Given the description of an element on the screen output the (x, y) to click on. 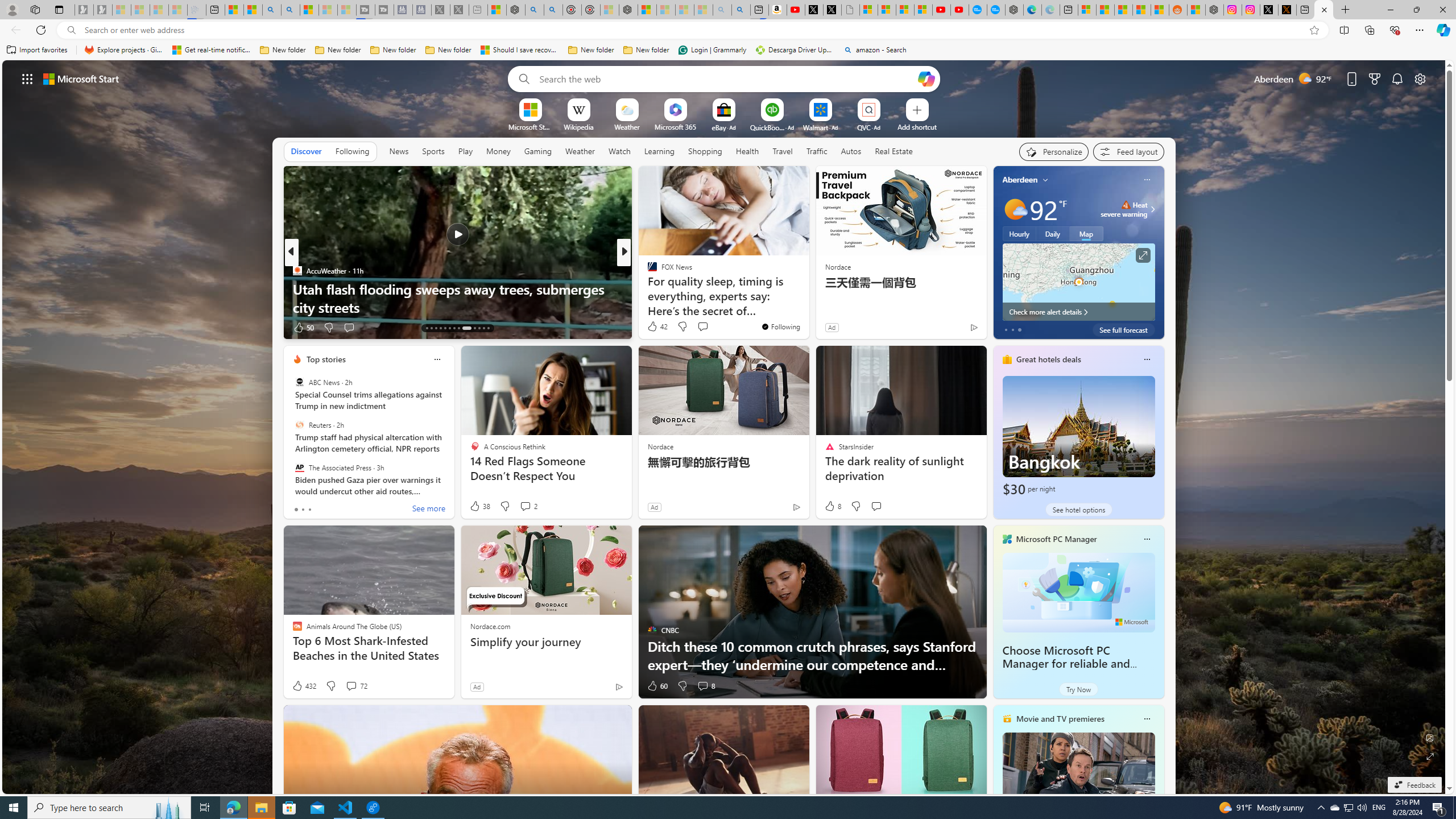
Six Exercises to Perfect Your Squat (807, 307)
Don't Say That: Phrases to Avoid in Job Interviews (807, 307)
Untitled (850, 9)
AutomationID: tab-18 (449, 328)
Learning (658, 151)
Login | Grammarly (712, 49)
The Associated Press (299, 466)
poe ++ standard - Search (552, 9)
My location (1045, 179)
View comments 1 Comment (6, 327)
